Given the description of an element on the screen output the (x, y) to click on. 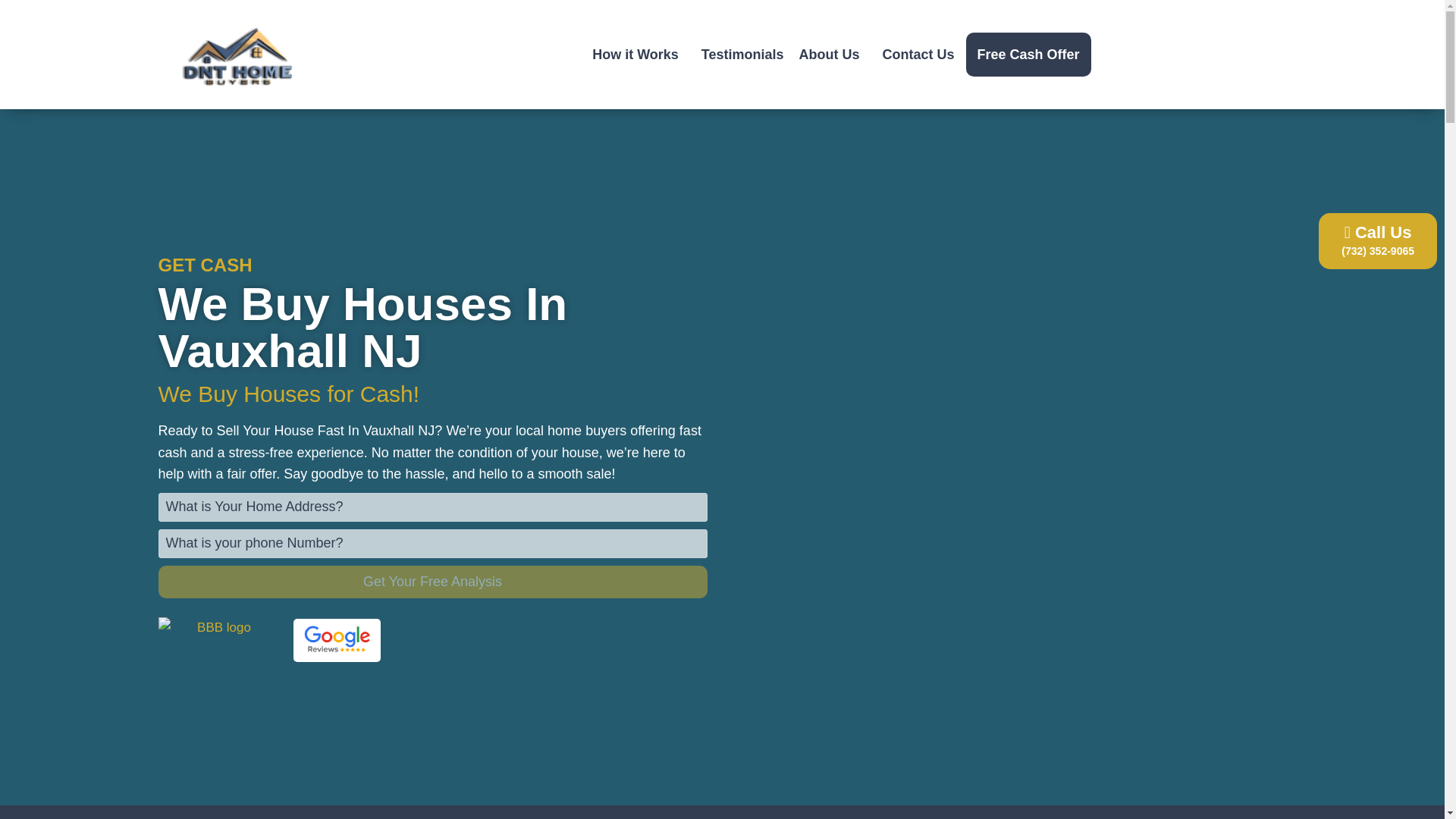
Get Your Free Analysis (431, 581)
About Us (833, 53)
Testimonials (743, 53)
Get Your Free Analysis (431, 581)
Contact Us (918, 53)
How it Works (639, 53)
Free Cash Offer (1028, 53)
